Given the description of an element on the screen output the (x, y) to click on. 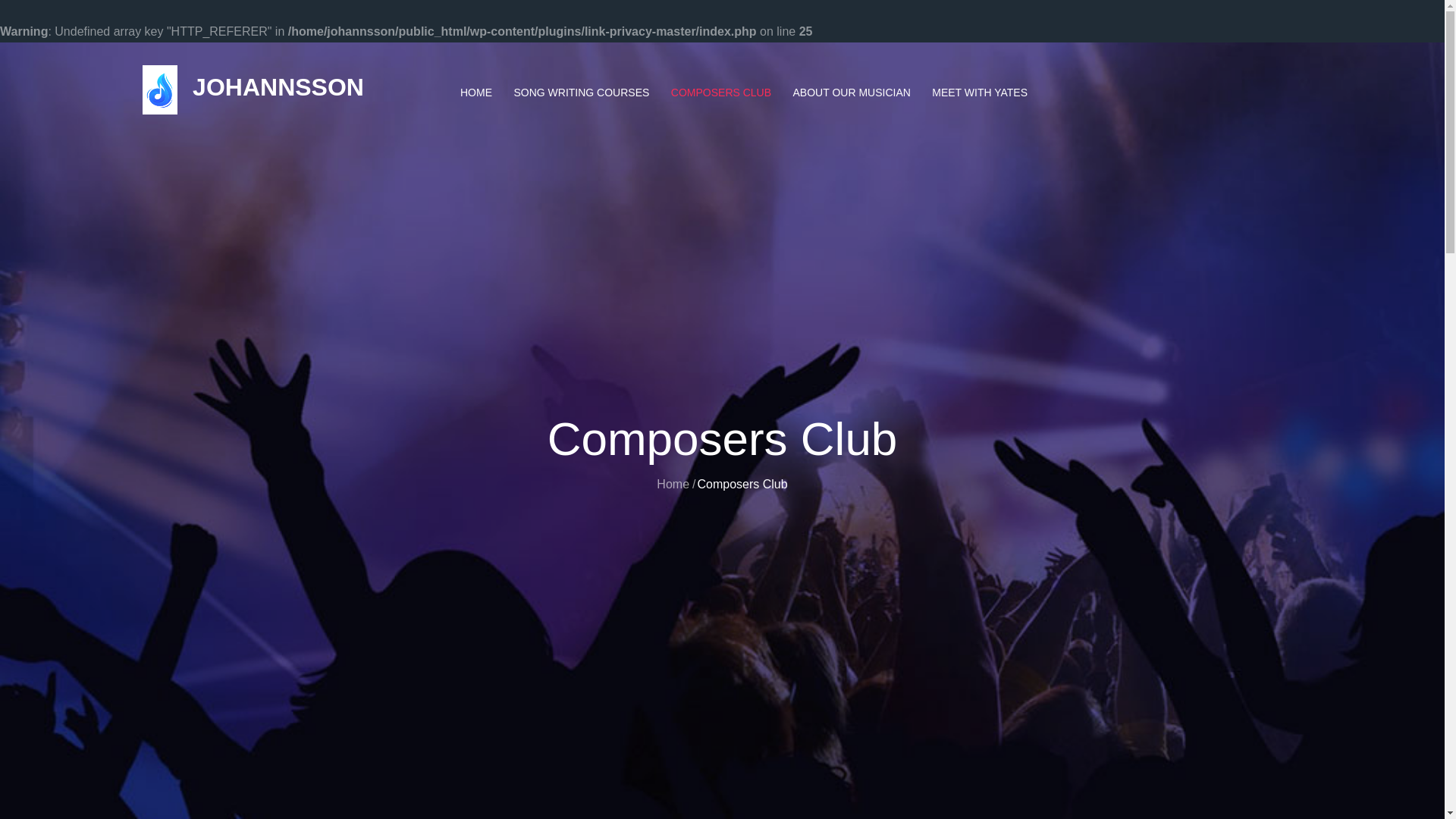
JOHANNSSON (278, 86)
Home (672, 483)
SONG WRITING COURSES (580, 92)
COMPOSERS CLUB (721, 92)
HOME (475, 92)
ABOUT OUR MUSICIAN (852, 92)
MEET WITH YATES (979, 92)
